Given the description of an element on the screen output the (x, y) to click on. 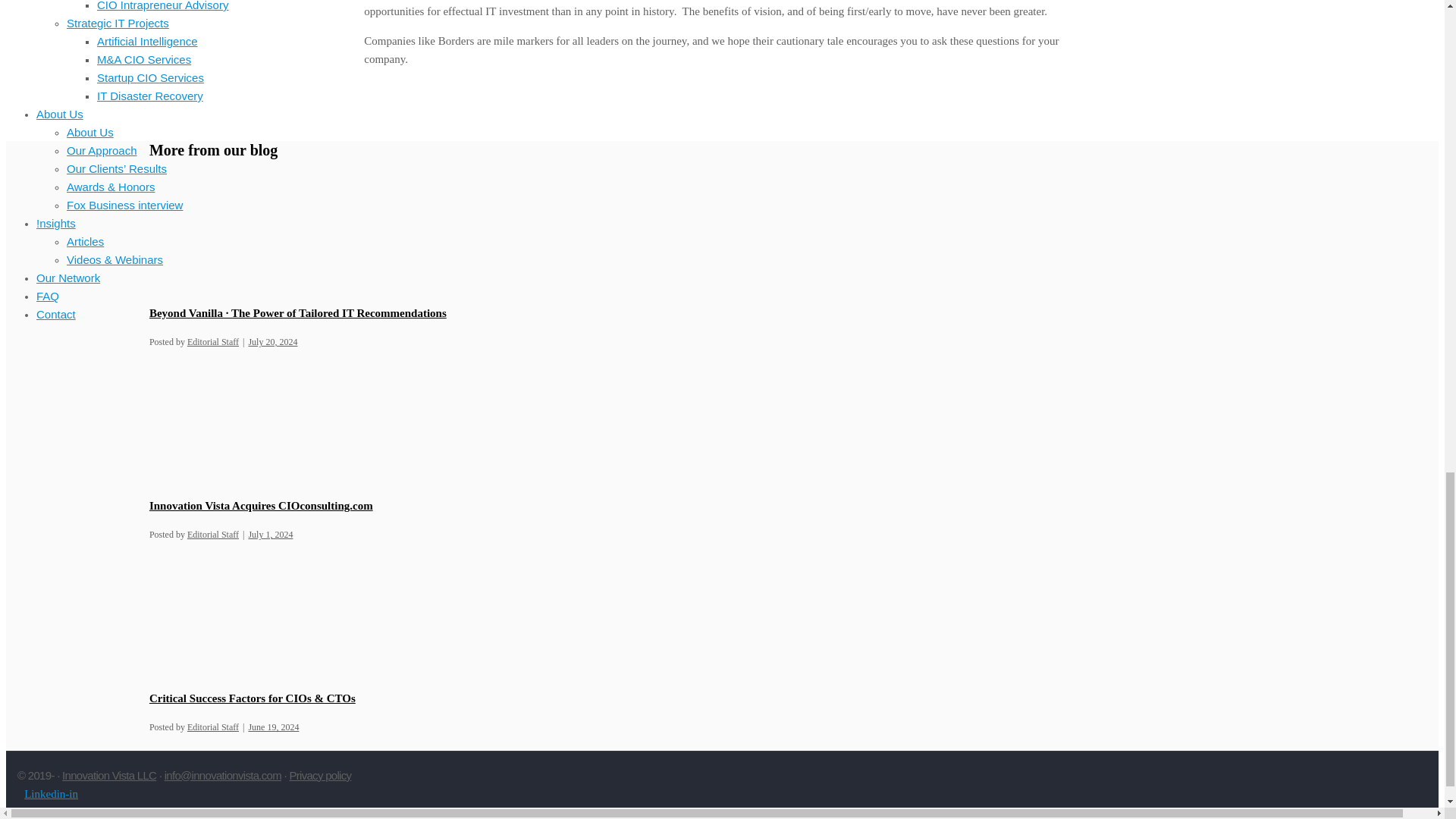
2024-06-19T16:09:40-05:00 (272, 726)
2024-07-20T14:54:39-05:00 (272, 341)
2024-07-01T08:29:23-05:00 (269, 534)
